Given the description of an element on the screen output the (x, y) to click on. 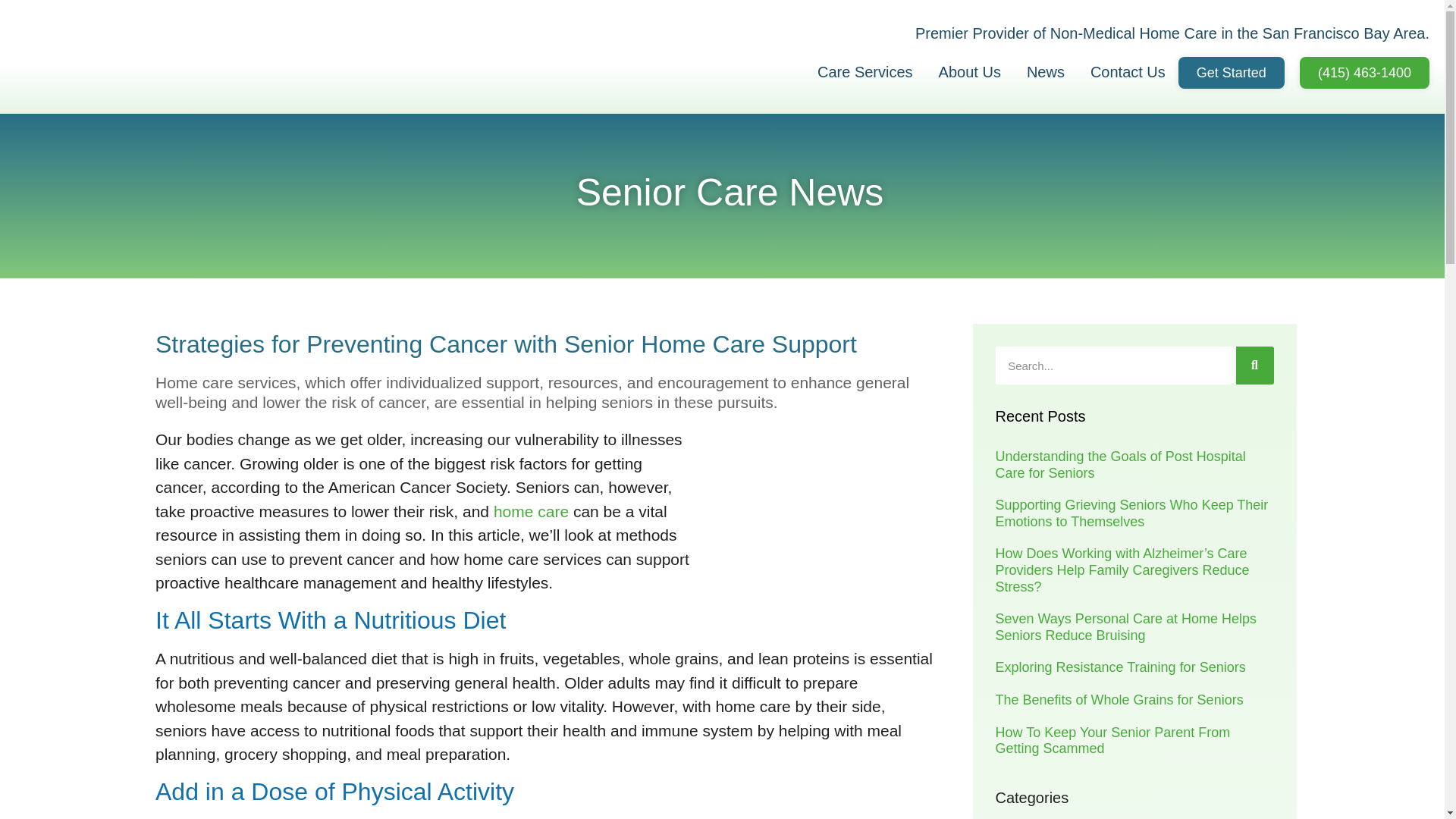
Get Started (1230, 71)
News (1045, 71)
Care Services (865, 71)
home care (531, 511)
Contact Us (1127, 71)
About Us (969, 71)
